Given the description of an element on the screen output the (x, y) to click on. 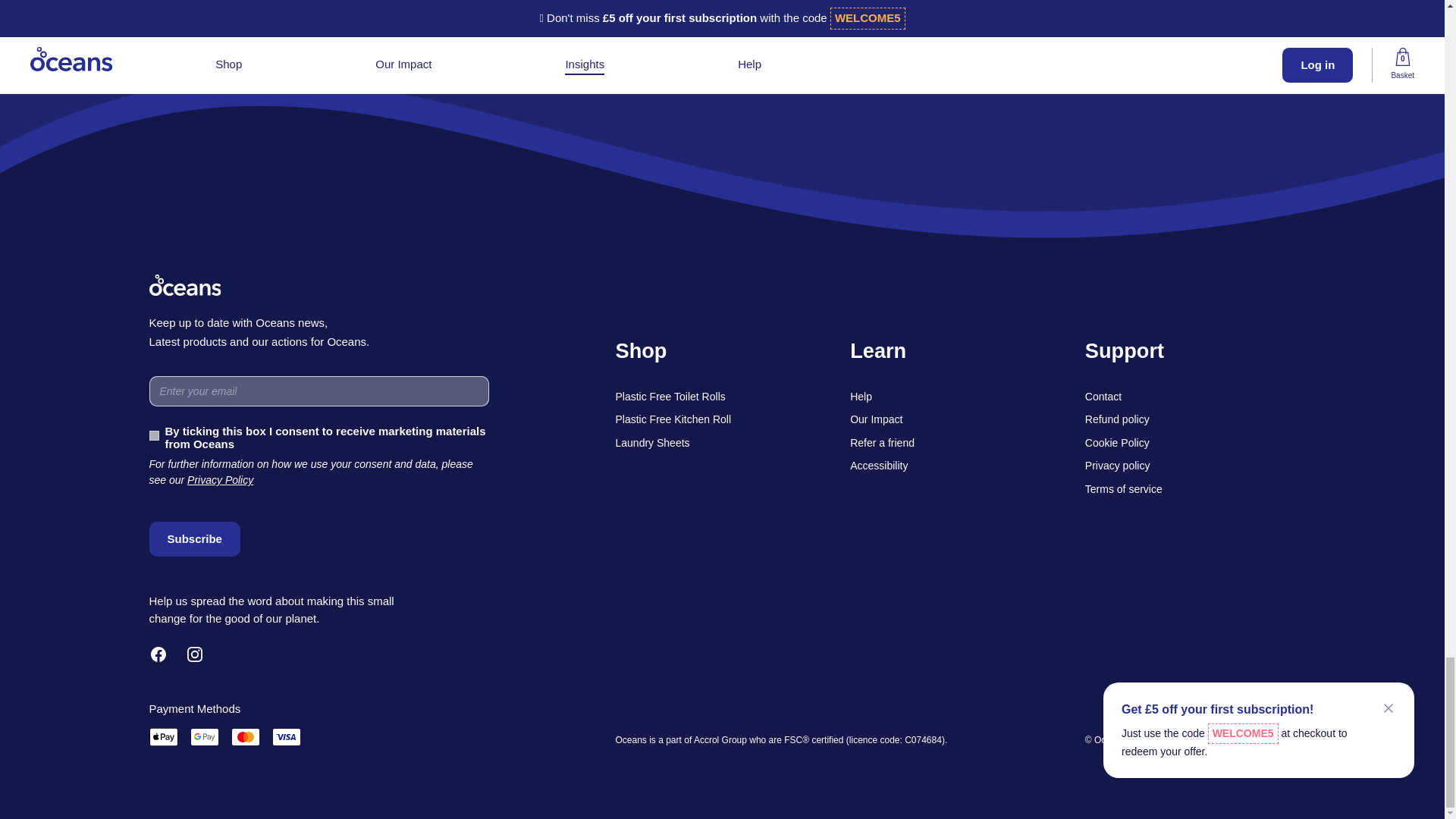
Subscribe (194, 538)
Refund policy (1117, 419)
Facebook (157, 654)
Refer a friend (882, 442)
Contact (1102, 396)
Refer a friend (722, 22)
Accessibility (878, 465)
1 (153, 435)
Plastic Free Toilet Rolls (670, 396)
Laundry Sheets (652, 442)
